Given the description of an element on the screen output the (x, y) to click on. 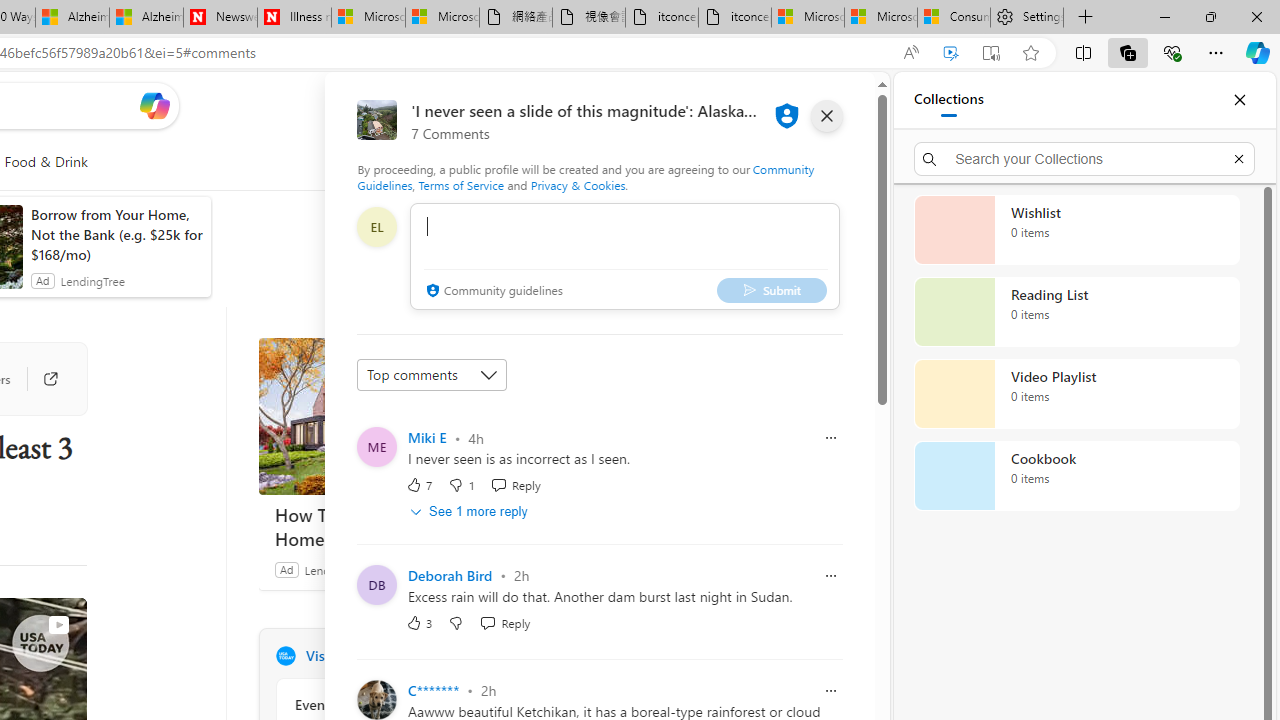
Borrow from Your Home, Not the Bank (e.g. $25k for $168/mo) (116, 234)
Cookbook collection, 0 items (1076, 475)
3 Like (419, 622)
Illness news & latest pictures from Newsweek.com (294, 17)
Profile Picture (376, 699)
Food & Drink (45, 162)
LendingTree (336, 569)
